Given the description of an element on the screen output the (x, y) to click on. 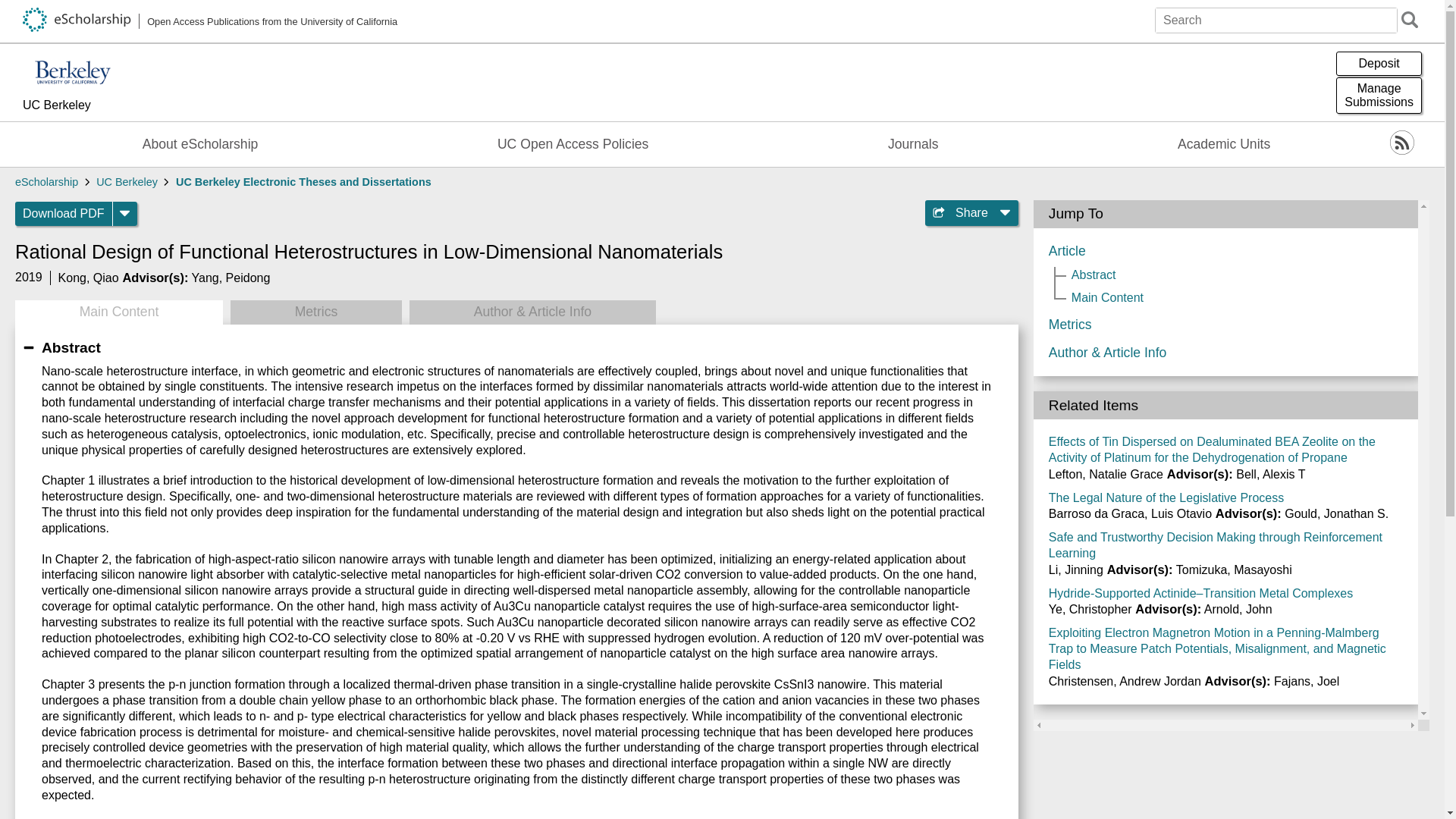
UC Berkeley Electronic Theses and Dissertations (303, 182)
UC Berkeley (126, 182)
Metrics (1379, 94)
Kong, Qiao (315, 312)
UC Open Access Policies (88, 277)
Download PDF (572, 143)
Open Access Publications from the University of California (63, 213)
Deposit (210, 21)
Yang, Peidong (1379, 63)
Academic Units (231, 277)
About eScholarship (1224, 143)
eScholarship (200, 143)
UC Berkeley (46, 182)
Main Content (89, 105)
